Given the description of an element on the screen output the (x, y) to click on. 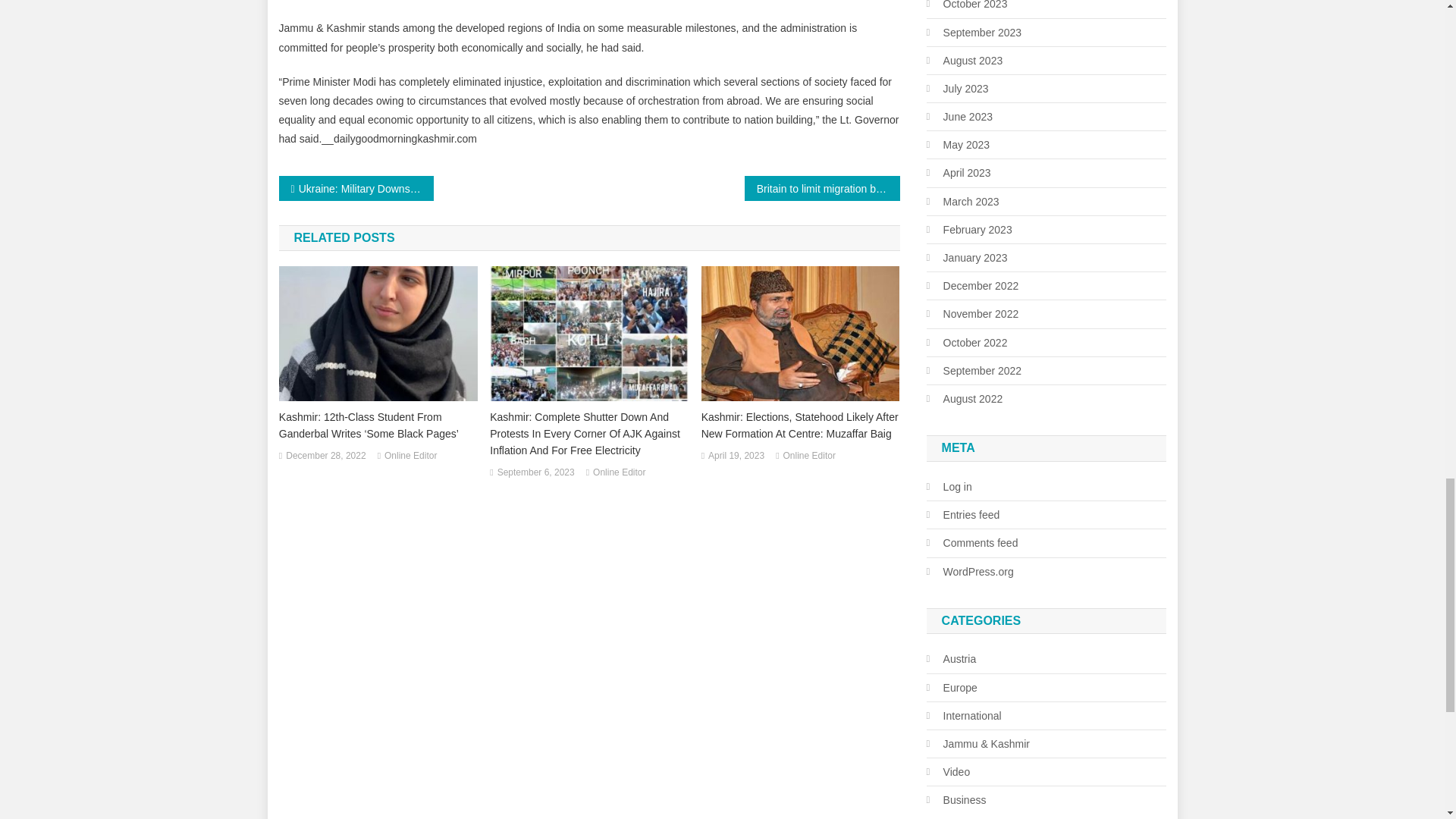
Online Editor (410, 456)
September 6, 2023 (536, 473)
Britain to limit migration by family of overseas students (821, 188)
Online Editor (618, 473)
April 19, 2023 (735, 456)
Online Editor (809, 456)
Ukraine: Military Downs All 36 Drones from Russian Attack (356, 188)
December 28, 2022 (325, 456)
